Given the description of an element on the screen output the (x, y) to click on. 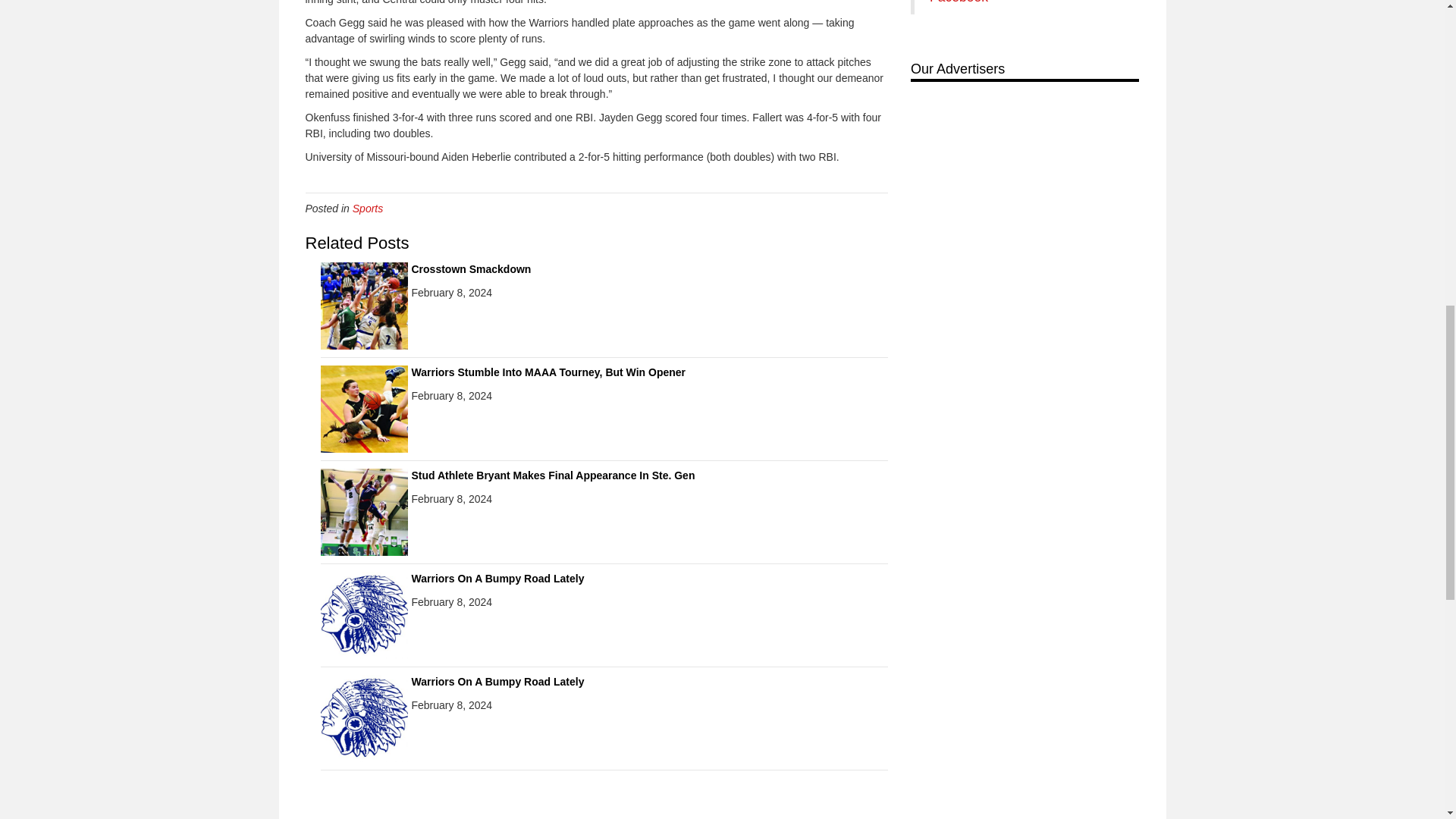
Crosstown Smackdown (363, 305)
Warriors Stumble Into MAAA Tourney, But Win Opener (363, 408)
Warriors On A Bumpy Road Lately (496, 578)
Warriors On A Bumpy Road Lately (363, 717)
Crosstown Smackdown (470, 268)
Warriors On A Bumpy Road Lately (496, 681)
Warriors Stumble Into MAAA Tourney, But Win Opener (547, 372)
Stud Athlete Bryant Makes Final Appearance In Ste. Gen (363, 511)
Stud Athlete Bryant Makes Final Appearance In Ste. Gen (552, 475)
Warriors On A Bumpy Road Lately (363, 614)
